Given the description of an element on the screen output the (x, y) to click on. 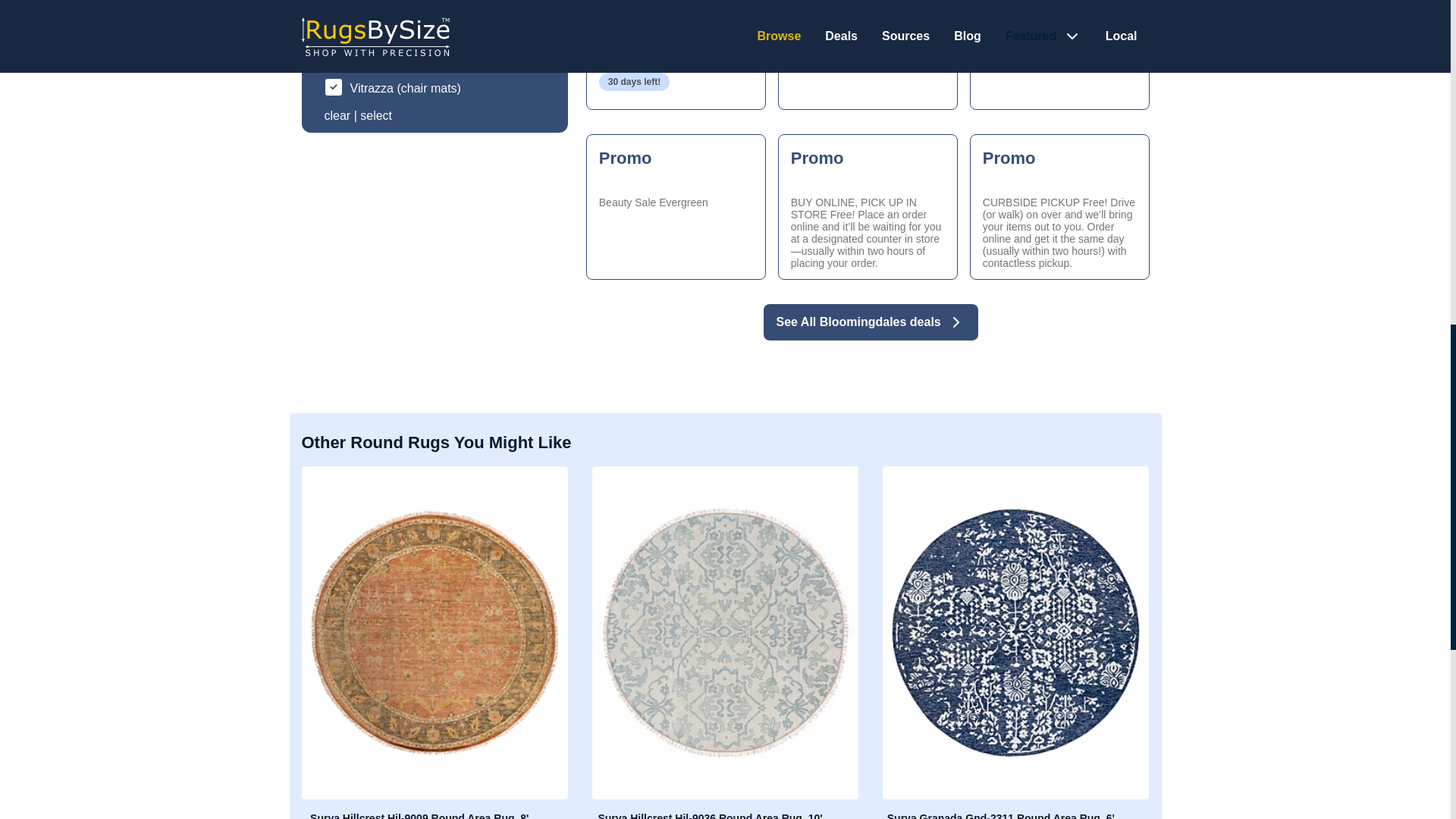
Promo (867, 54)
clear (675, 54)
select (337, 115)
See All Bloomingdales deals (675, 207)
